Given the description of an element on the screen output the (x, y) to click on. 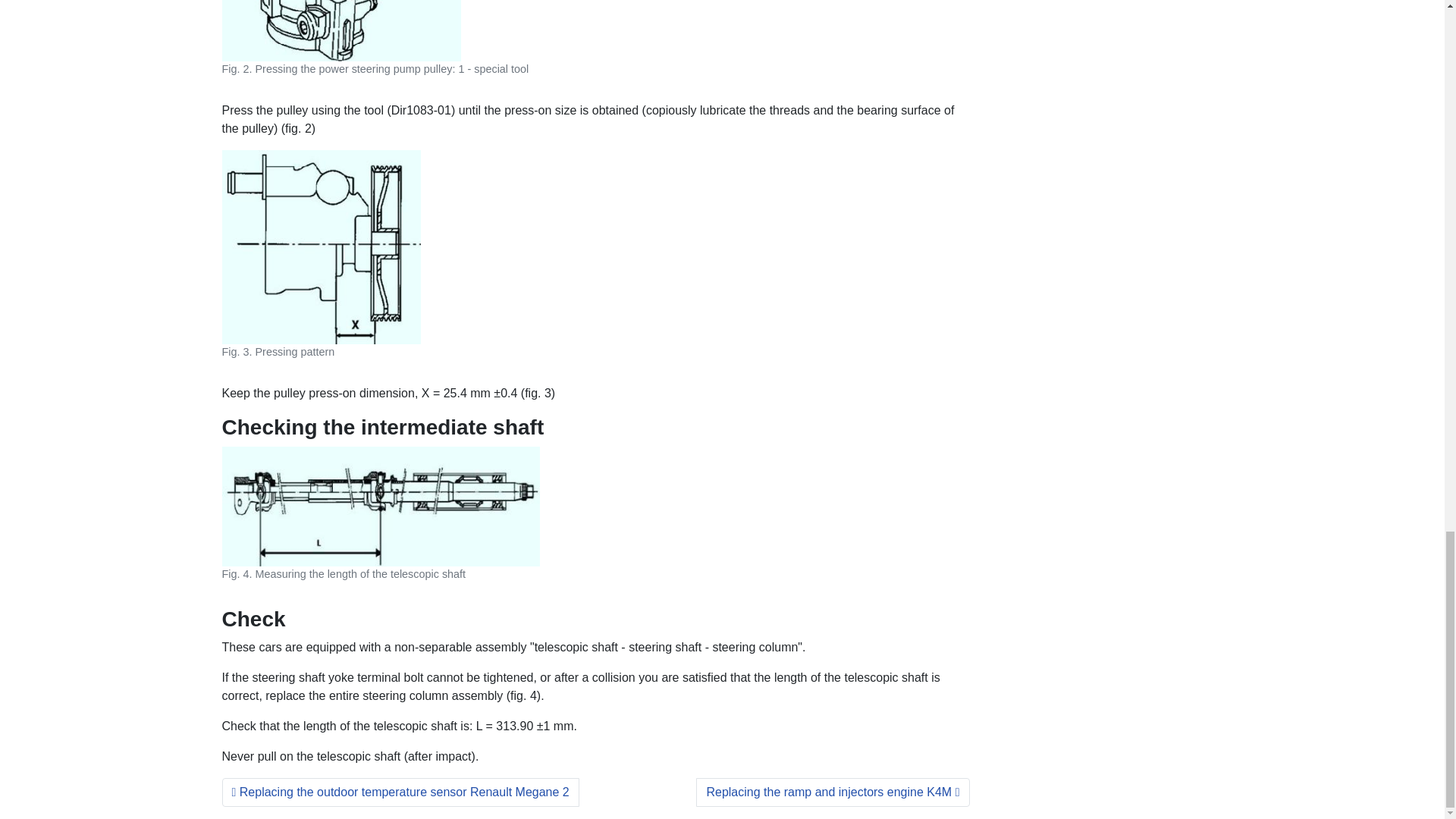
Renault Megane 2 power steering pump replacement (379, 506)
Renault Megan 2 power steering pump replacement (340, 30)
Renault Megan 2 power steering pump replacement (320, 246)
